Given the description of an element on the screen output the (x, y) to click on. 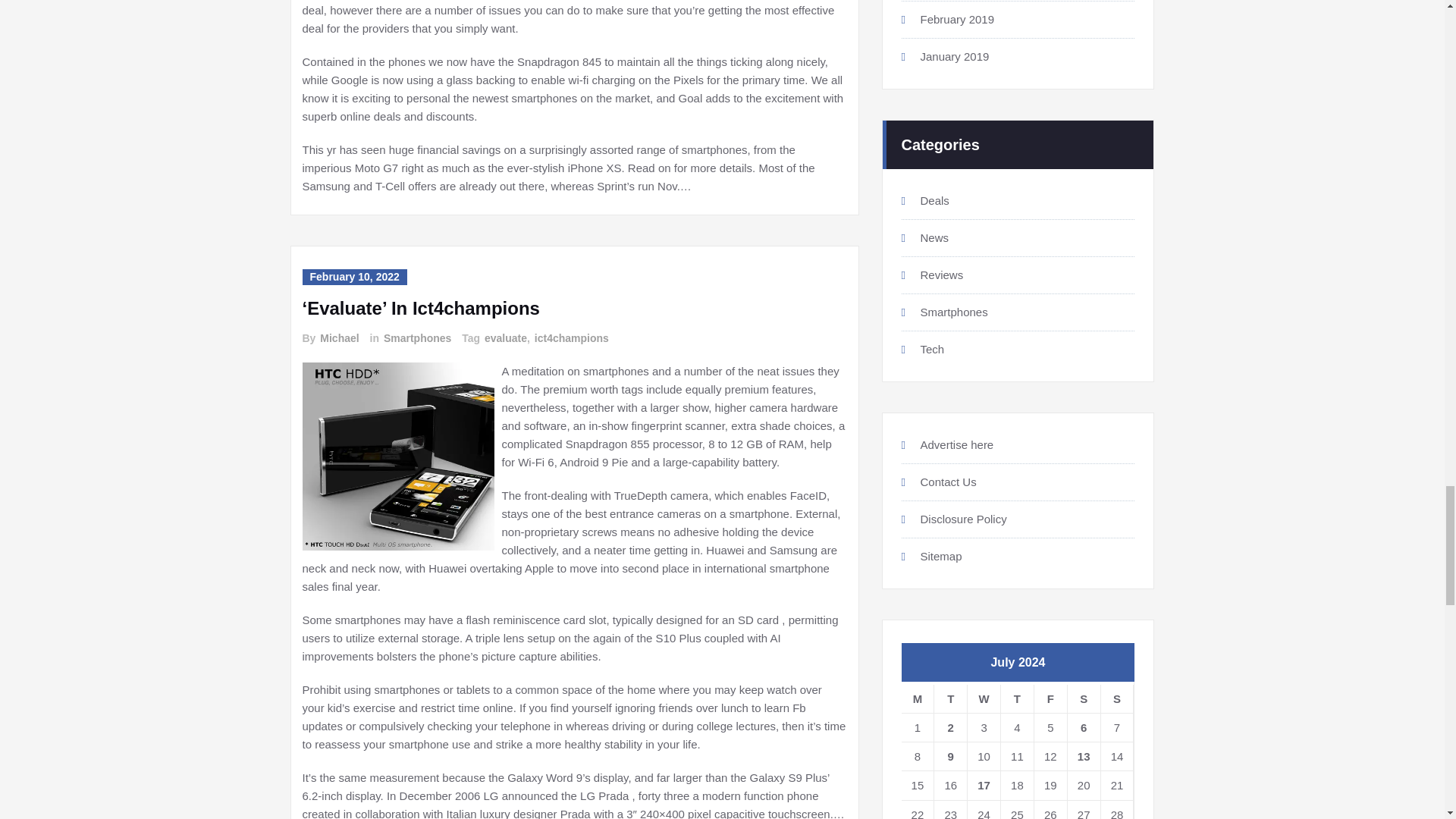
Monday (917, 698)
Tuesday (951, 698)
Saturday (1083, 698)
Wednesday (984, 698)
Sunday (1117, 698)
Thursday (1017, 698)
Friday (1050, 698)
